Given the description of an element on the screen output the (x, y) to click on. 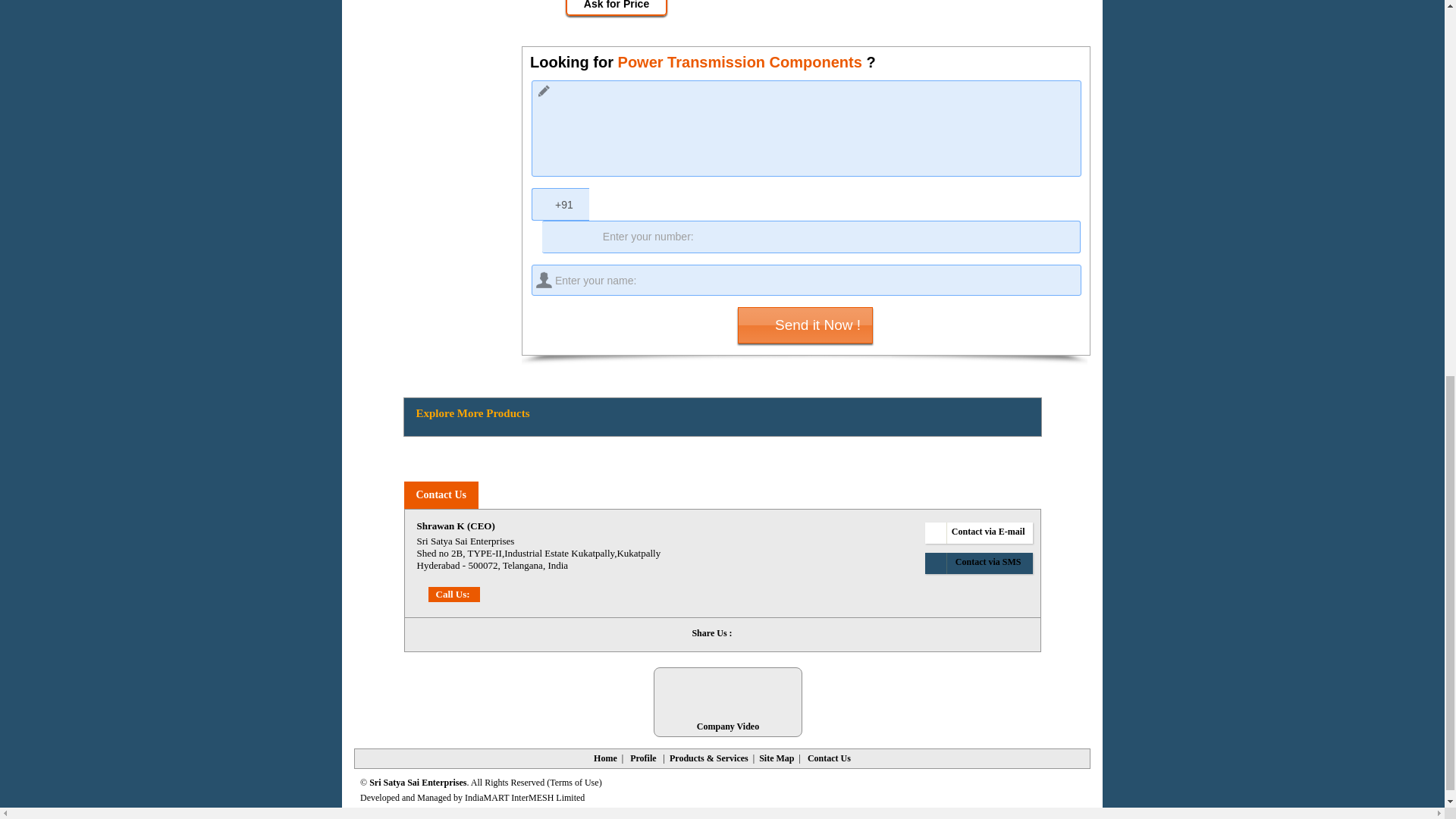
Enter your number: (810, 236)
Enter your name: (806, 279)
Send it Now ! (805, 325)
Send it Now ! (805, 325)
